Given the description of an element on the screen output the (x, y) to click on. 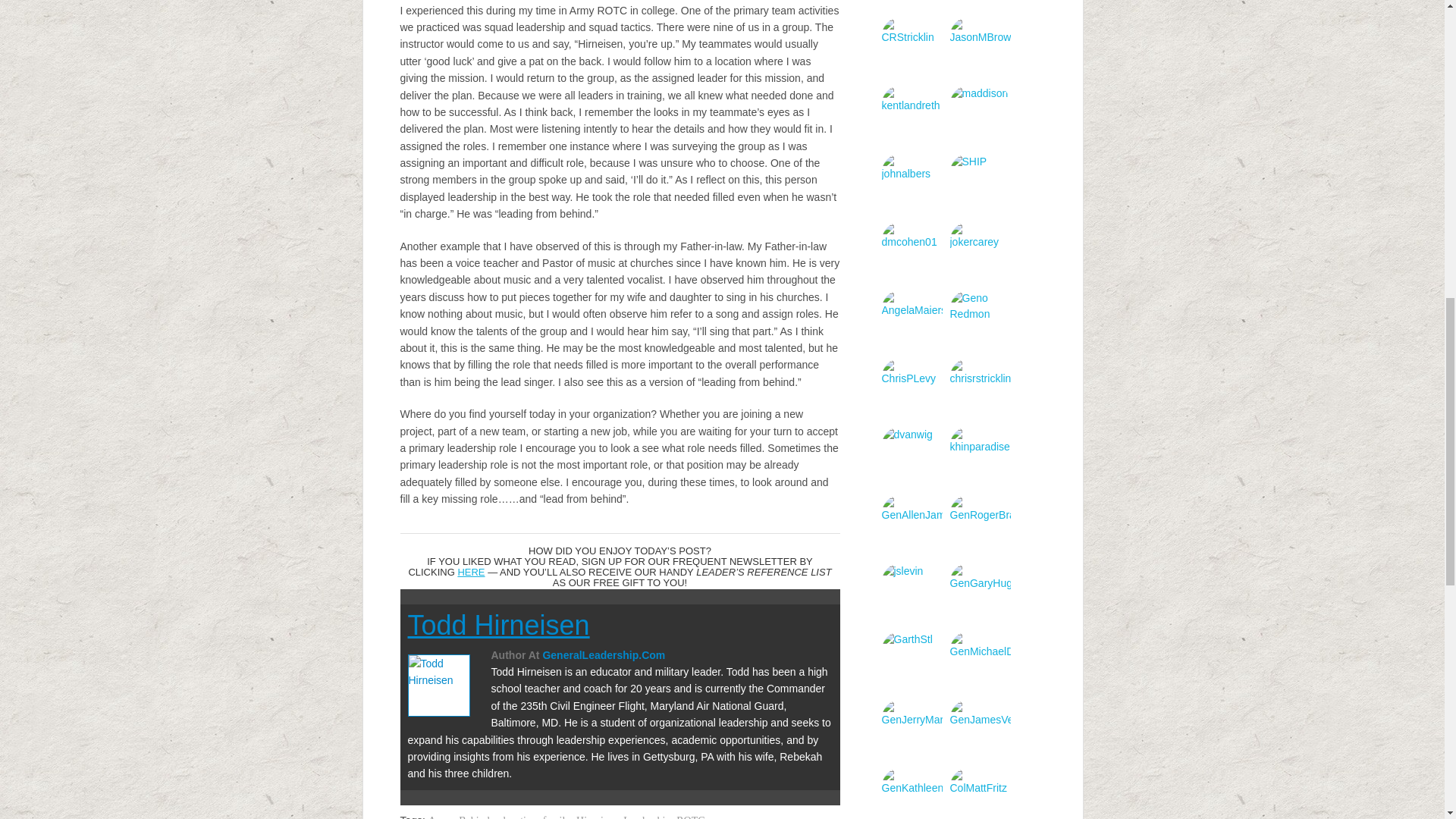
Todd Hirneisen (498, 624)
